Given the description of an element on the screen output the (x, y) to click on. 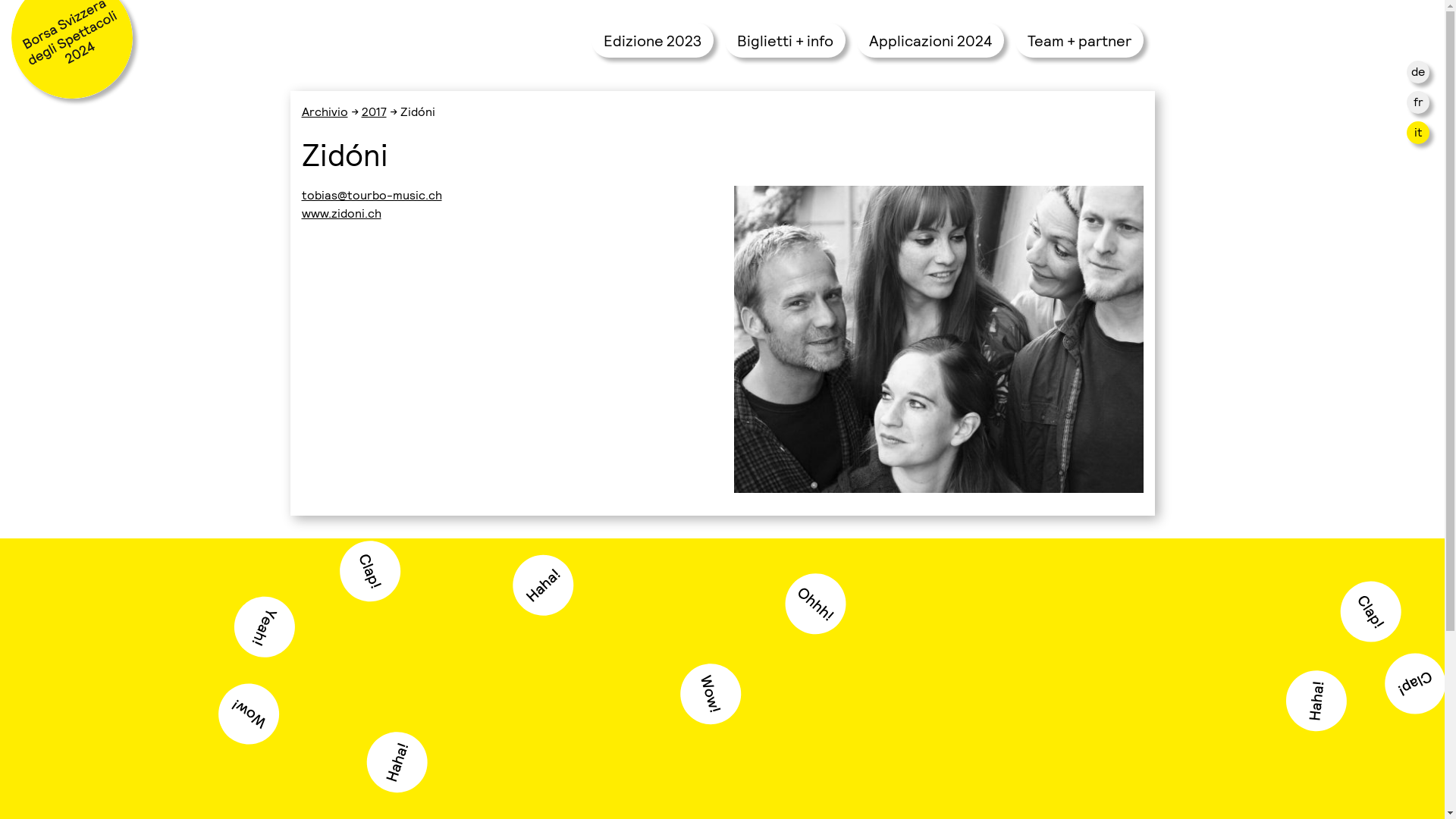
www.zidoni.ch Element type: text (341, 212)
de Element type: text (1417, 70)
Team + partner Element type: text (1078, 39)
2017 Element type: text (372, 110)
Edizione 2023 Element type: text (652, 39)
Biglietti + info Element type: text (784, 39)
Skip to content Element type: text (0, 91)
tobias@tourbo-music.ch Element type: text (371, 194)
Archivio Element type: text (324, 110)
Applicazioni 2024 Element type: text (930, 39)
fr Element type: text (1418, 101)
